Given the description of an element on the screen output the (x, y) to click on. 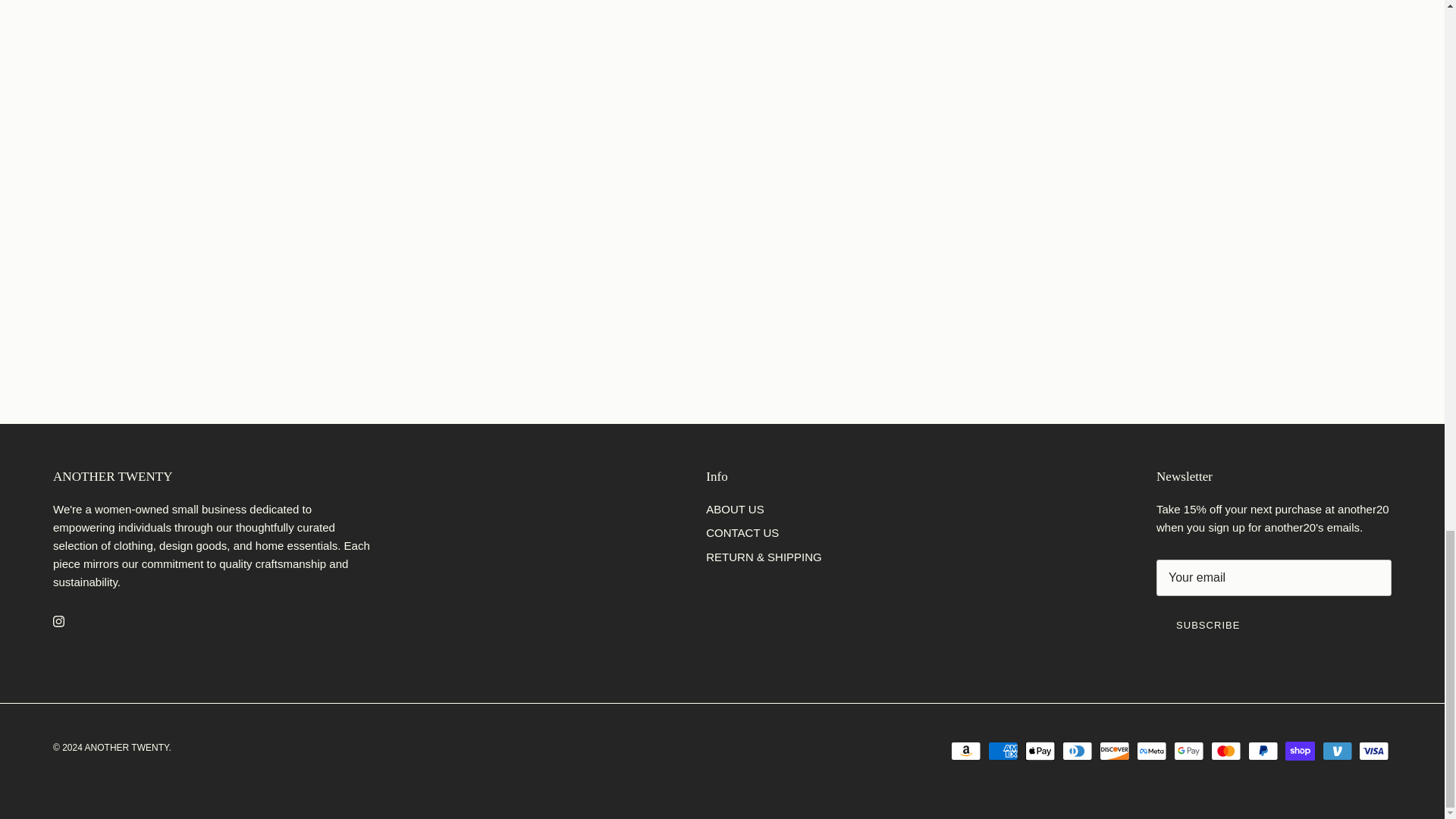
Amazon (965, 751)
Meta Pay (1151, 751)
ANOTHER TWENTY on Instagram (58, 621)
Apple Pay (1040, 751)
PayPal (1262, 751)
Mastercard (1225, 751)
Diners Club (1077, 751)
American Express (1002, 751)
Google Pay (1188, 751)
Shop Pay (1299, 751)
